Given the description of an element on the screen output the (x, y) to click on. 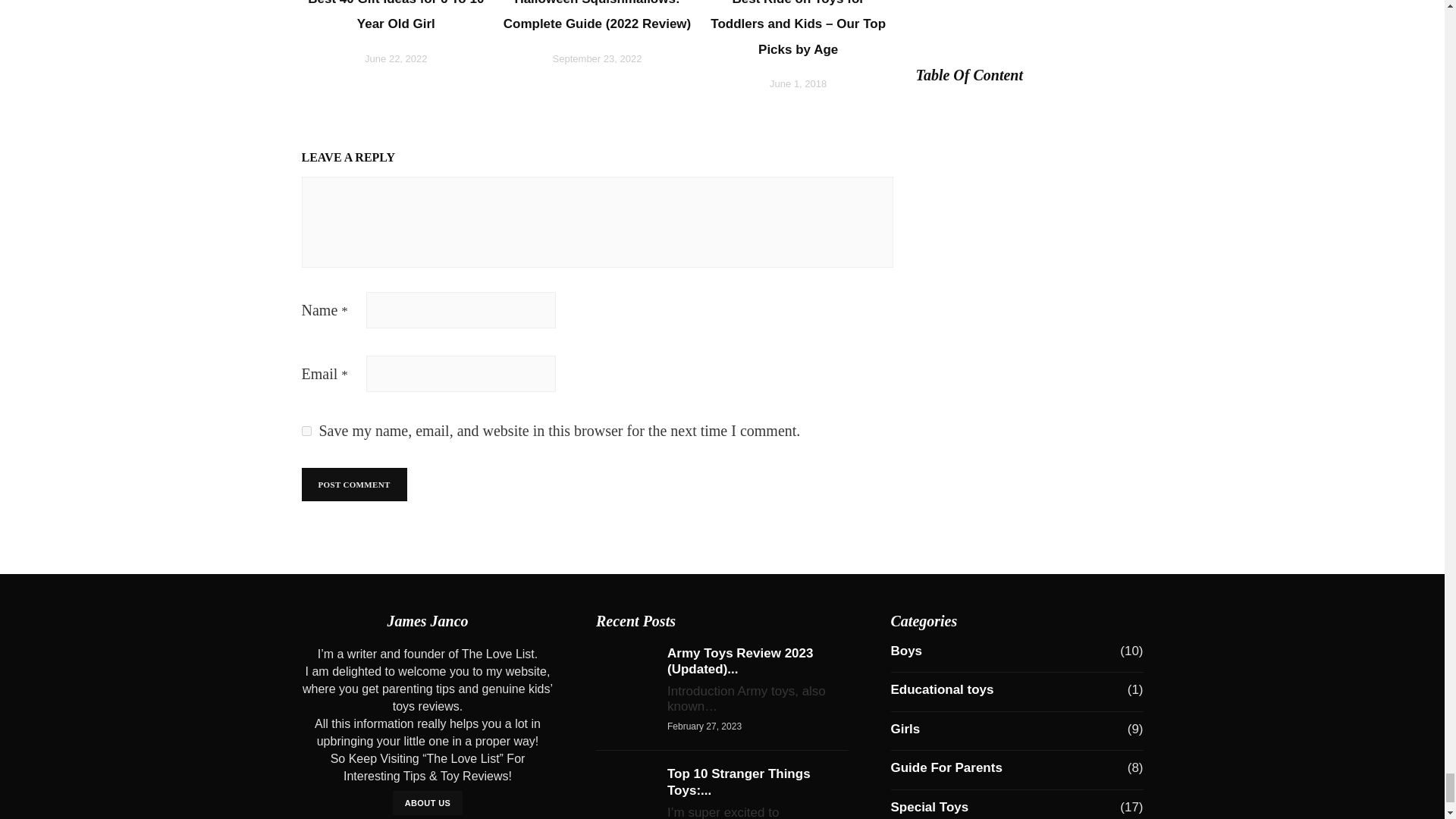
Post Comment (354, 484)
yes (306, 430)
